Given the description of an element on the screen output the (x, y) to click on. 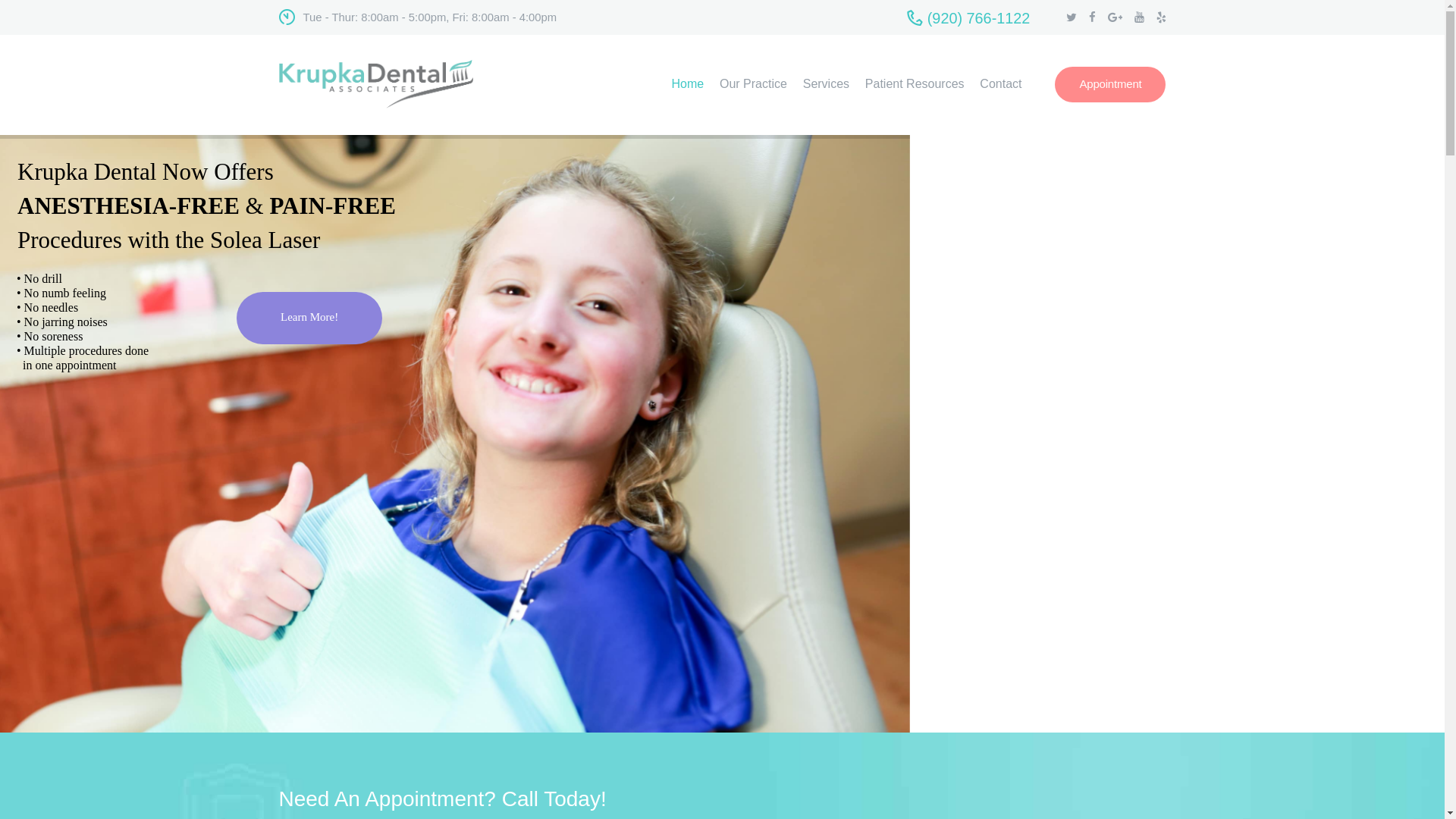
Home (687, 84)
Services (825, 84)
Our Practice (752, 84)
Appointment (1110, 84)
Patient Resources (914, 84)
Contact (1000, 84)
